Given the description of an element on the screen output the (x, y) to click on. 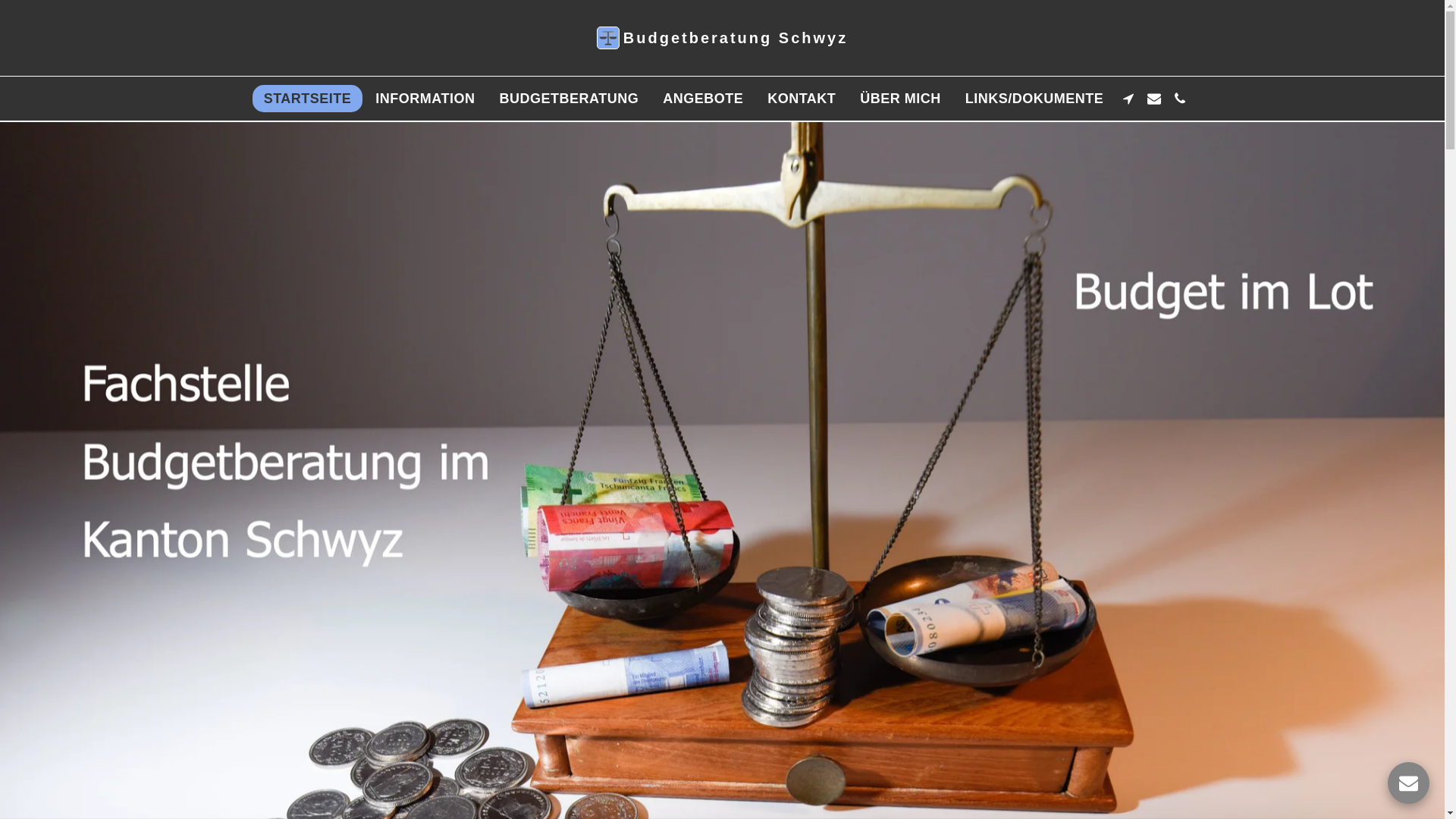
  Element type: text (1408, 782)
  Element type: text (1128, 98)
INFORMATION Element type: text (425, 98)
Budgetberatung Schwyz Element type: text (721, 37)
STARTSEITE Element type: text (307, 98)
  Element type: text (1154, 98)
  Element type: text (1179, 98)
ANGEBOTE Element type: text (702, 98)
LINKS/DOKUMENTE Element type: text (1034, 98)
BUDGETBERATUNG Element type: text (568, 98)
KONTAKT Element type: text (801, 98)
